Given the description of an element on the screen output the (x, y) to click on. 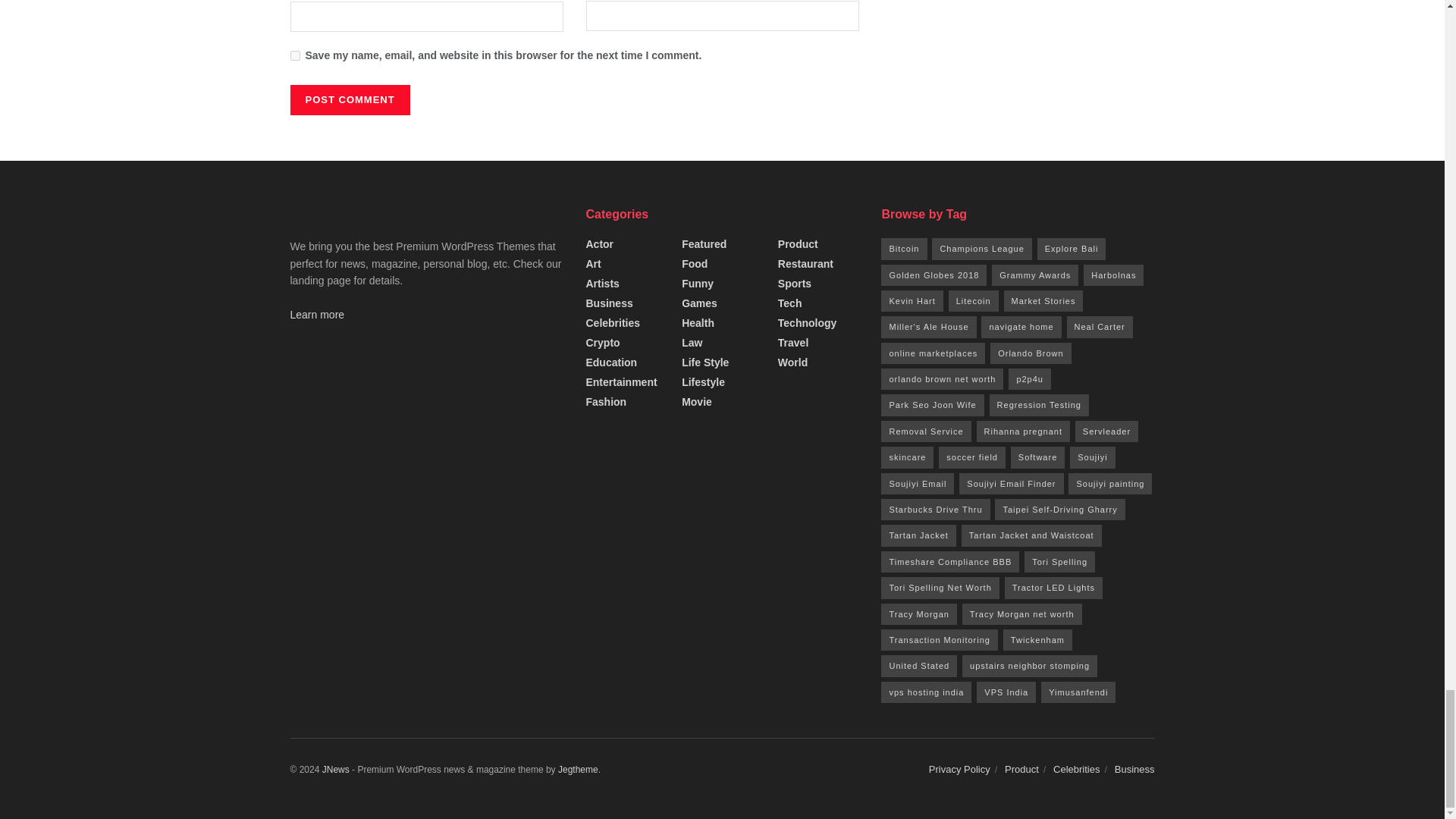
Post Comment (349, 100)
Jegtheme (577, 769)
yes (294, 55)
